Given the description of an element on the screen output the (x, y) to click on. 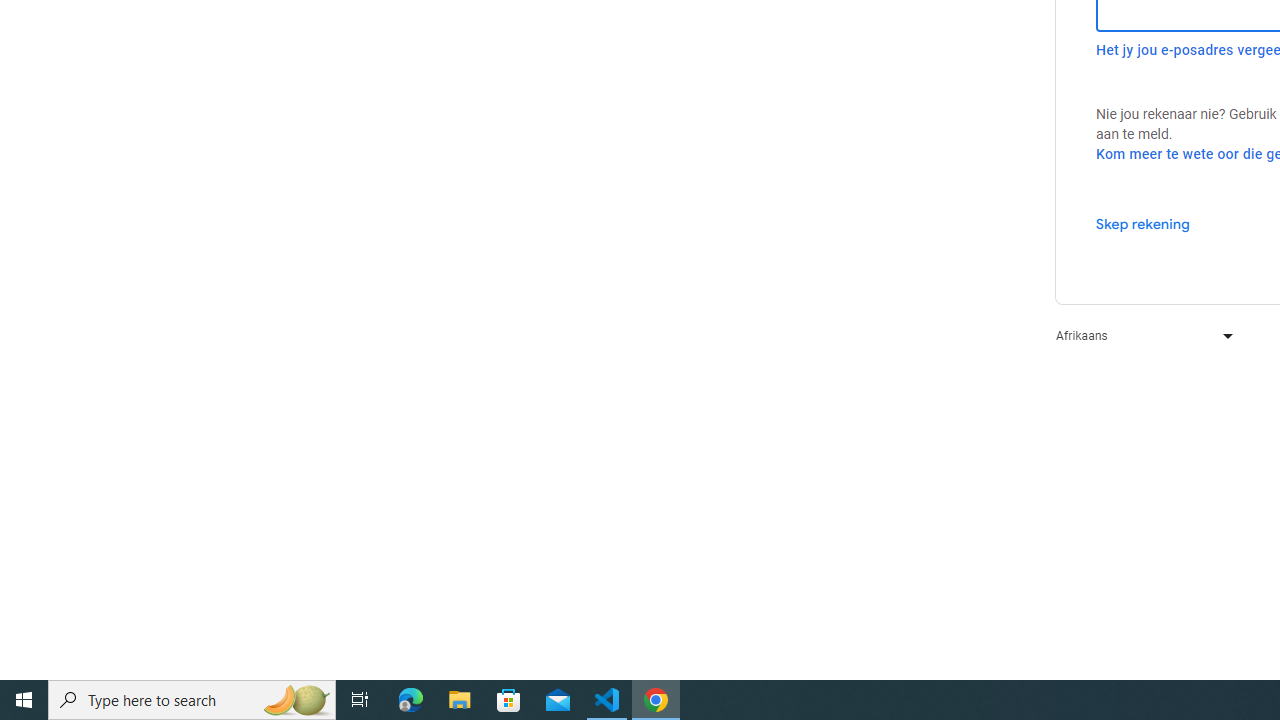
Afrikaans (1139, 335)
Skep rekening (1142, 223)
